Given the description of an element on the screen output the (x, y) to click on. 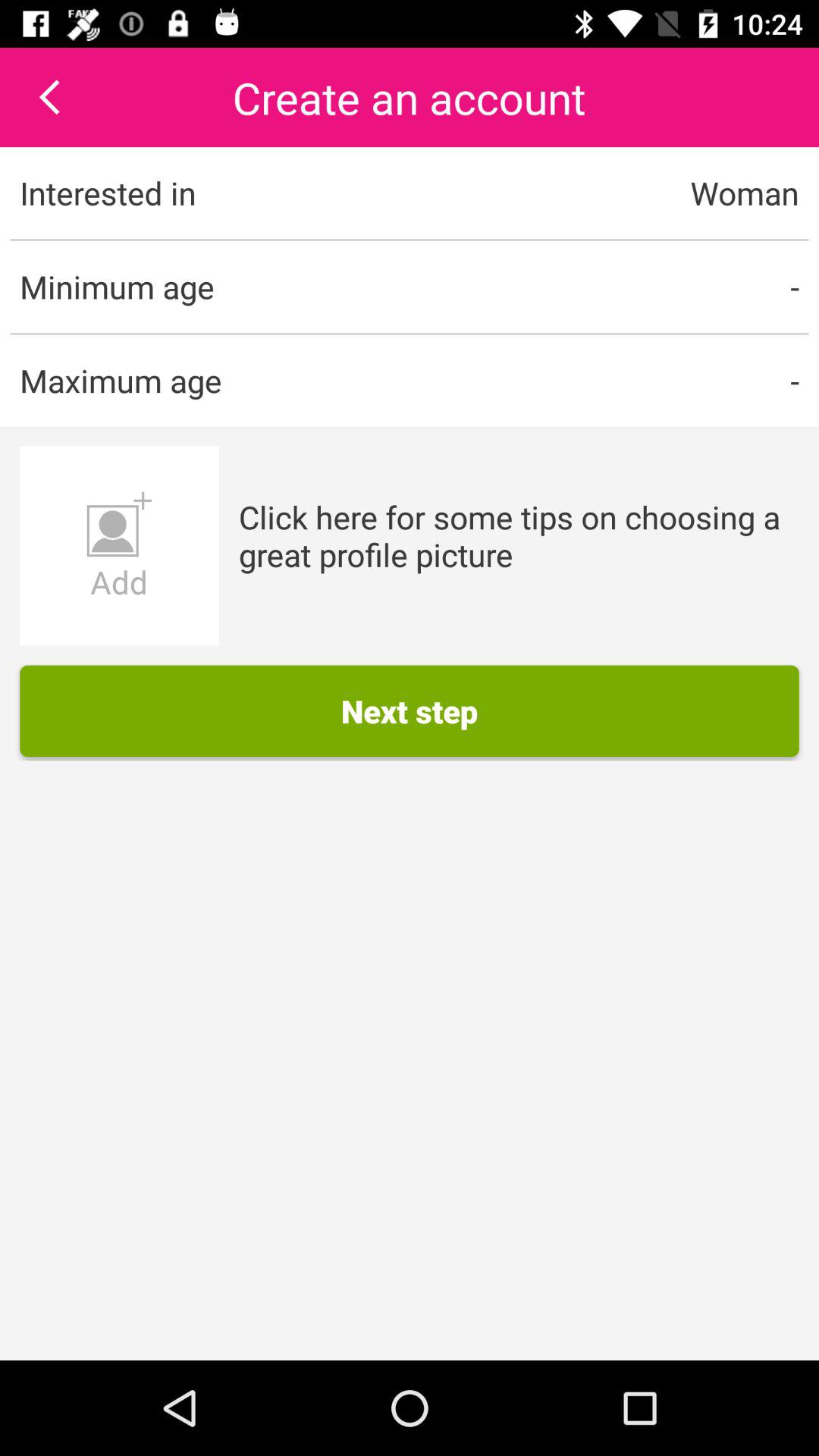
turn on the app below - item (518, 535)
